Given the description of an element on the screen output the (x, y) to click on. 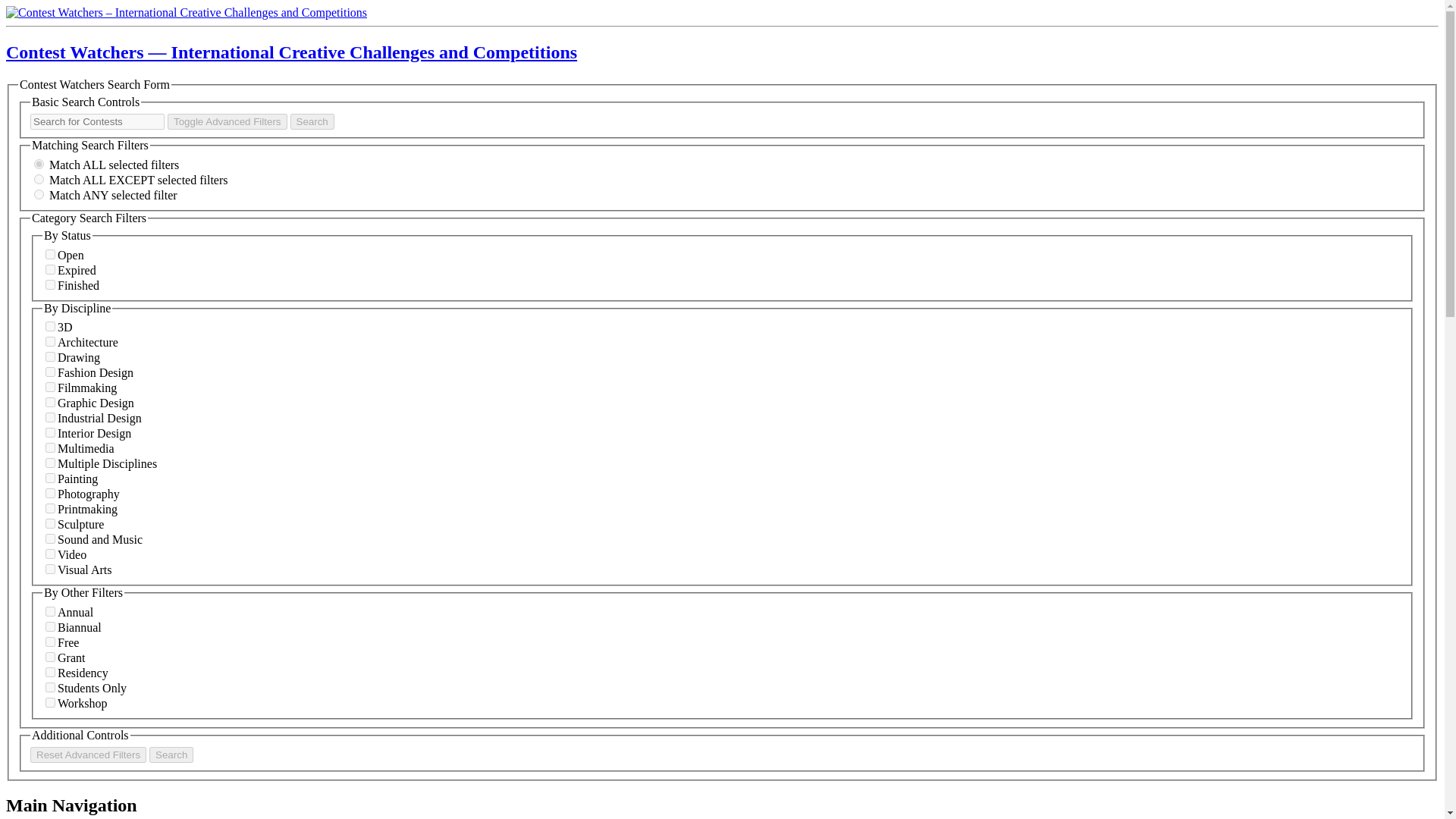
Search (311, 121)
Search (311, 121)
all (38, 163)
107 (50, 492)
124 (50, 417)
105 (50, 402)
2970 (50, 447)
Reset Advanced Filters (88, 754)
Set advanced search filters (226, 121)
